Given the description of an element on the screen output the (x, y) to click on. 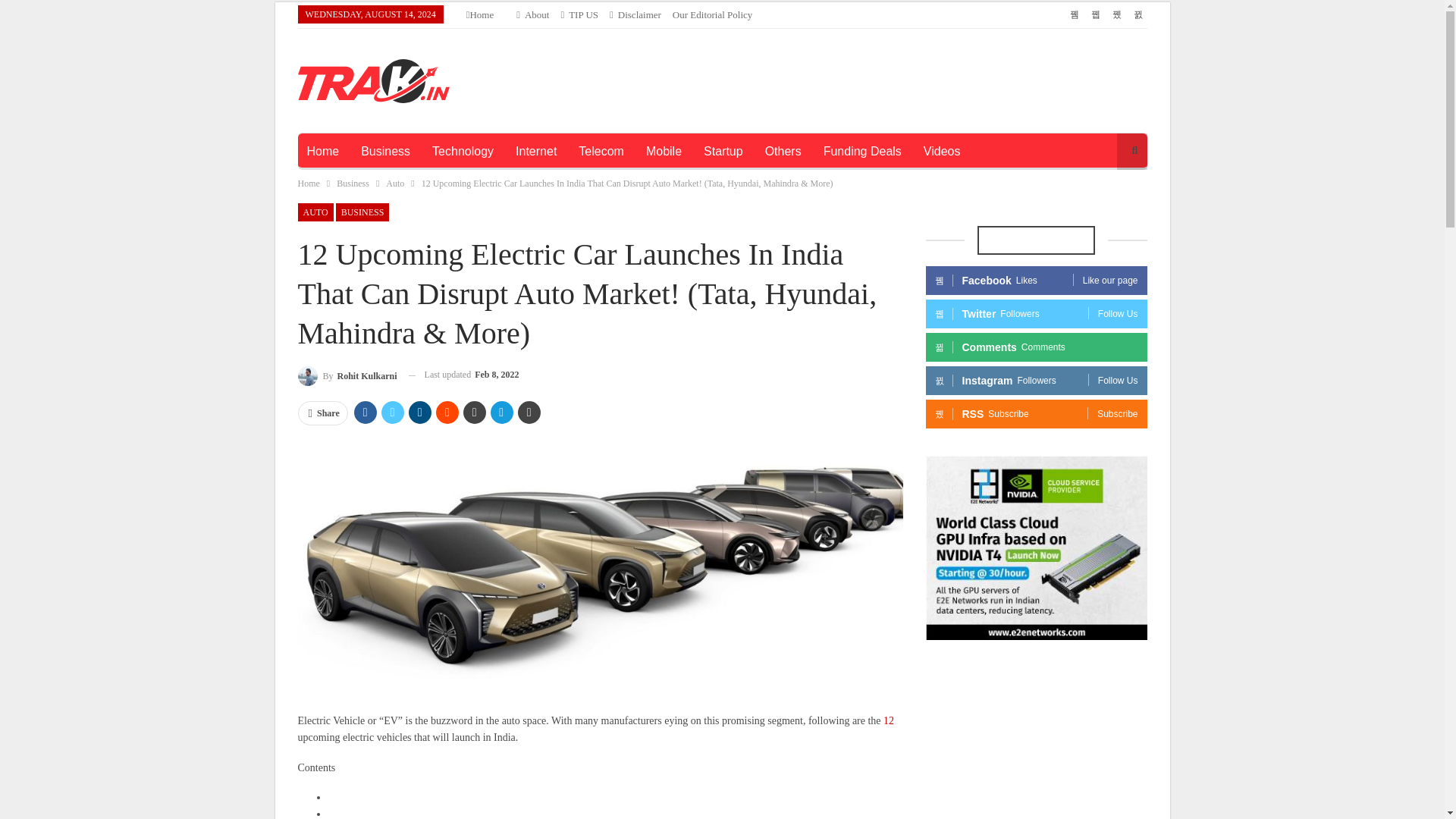
Mobile (663, 151)
Telecom (601, 151)
BUSINESS (363, 212)
By Rohit Kulkarni (346, 374)
Funding Deals (862, 151)
Home (307, 183)
Home (479, 14)
Disclaimer (635, 14)
Auto (394, 183)
Startup (723, 151)
